Given the description of an element on the screen output the (x, y) to click on. 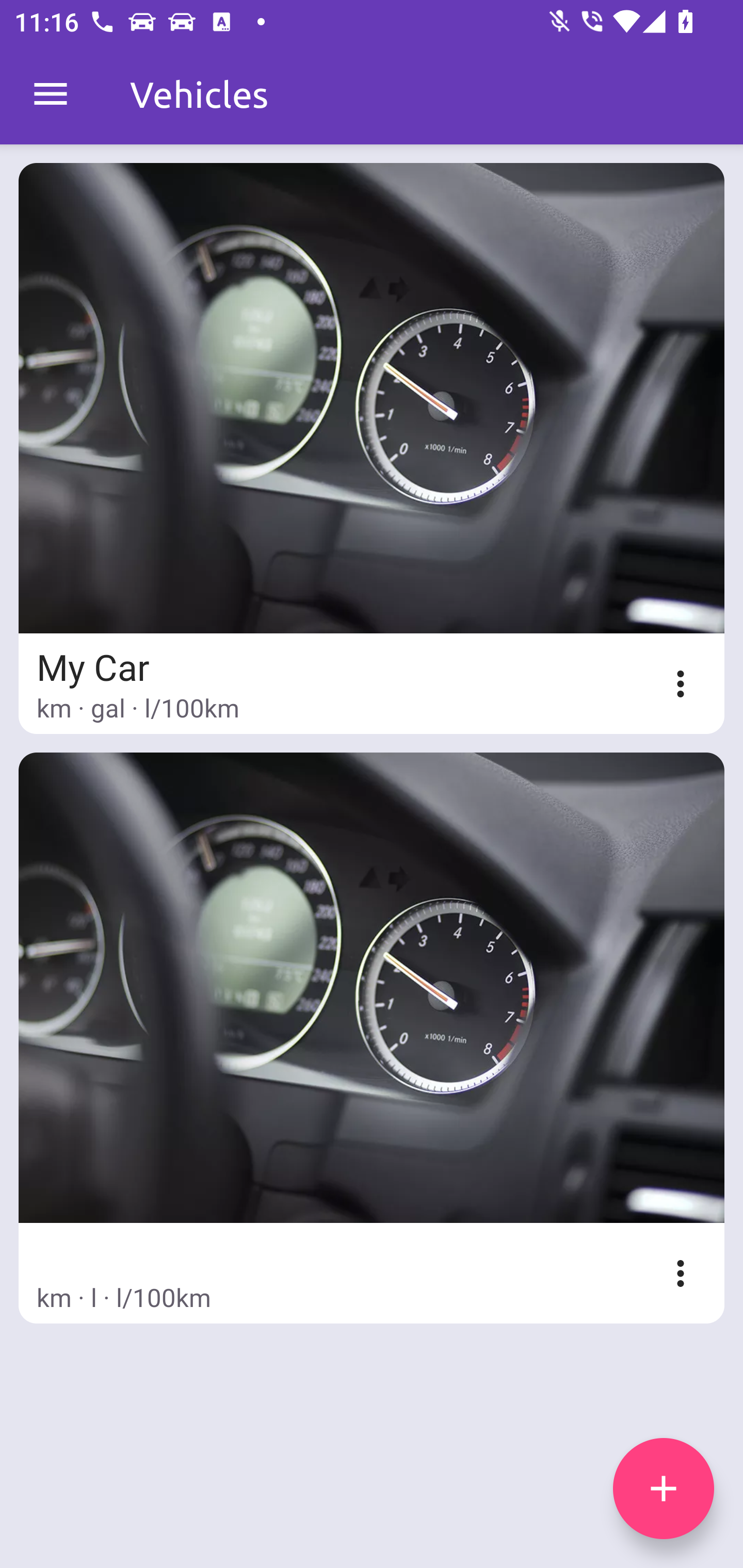
MenuDrawer (50, 93)
My Car km · gal · l/100km (371, 448)
km · l · l/100km (371, 1037)
add icon (663, 1488)
